Given the description of an element on the screen output the (x, y) to click on. 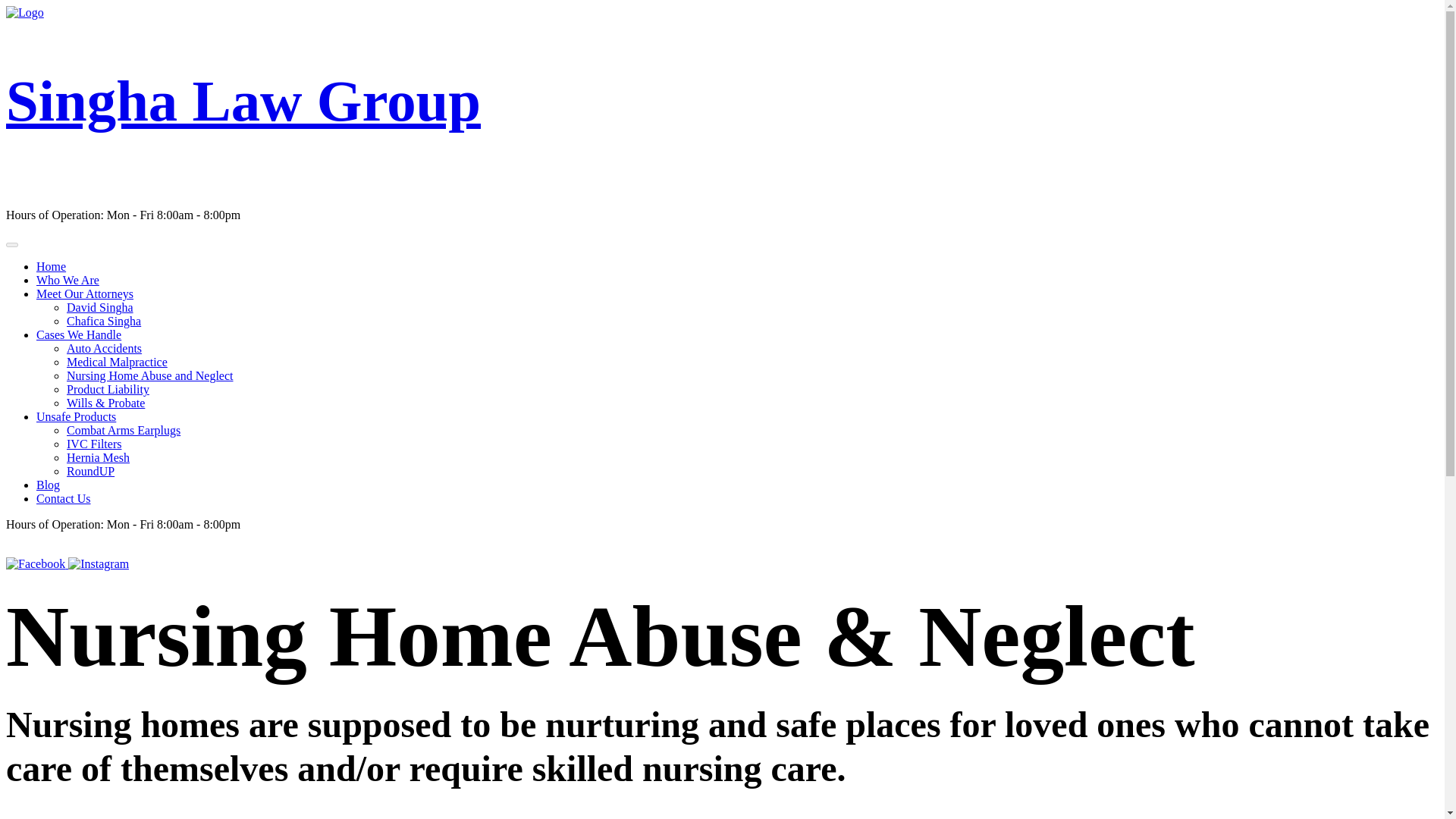
Hernia Mesh (97, 457)
Product Liability (107, 389)
CALL NOW: 813-840-1111 (76, 549)
Instagram (98, 563)
Combat Arms Earplugs (123, 430)
Auto Accidents (103, 348)
Chafica Singha (103, 320)
Who We Are (67, 279)
Cases We Handle (78, 334)
Meet Our Attorneys (84, 293)
